Given the description of an element on the screen output the (x, y) to click on. 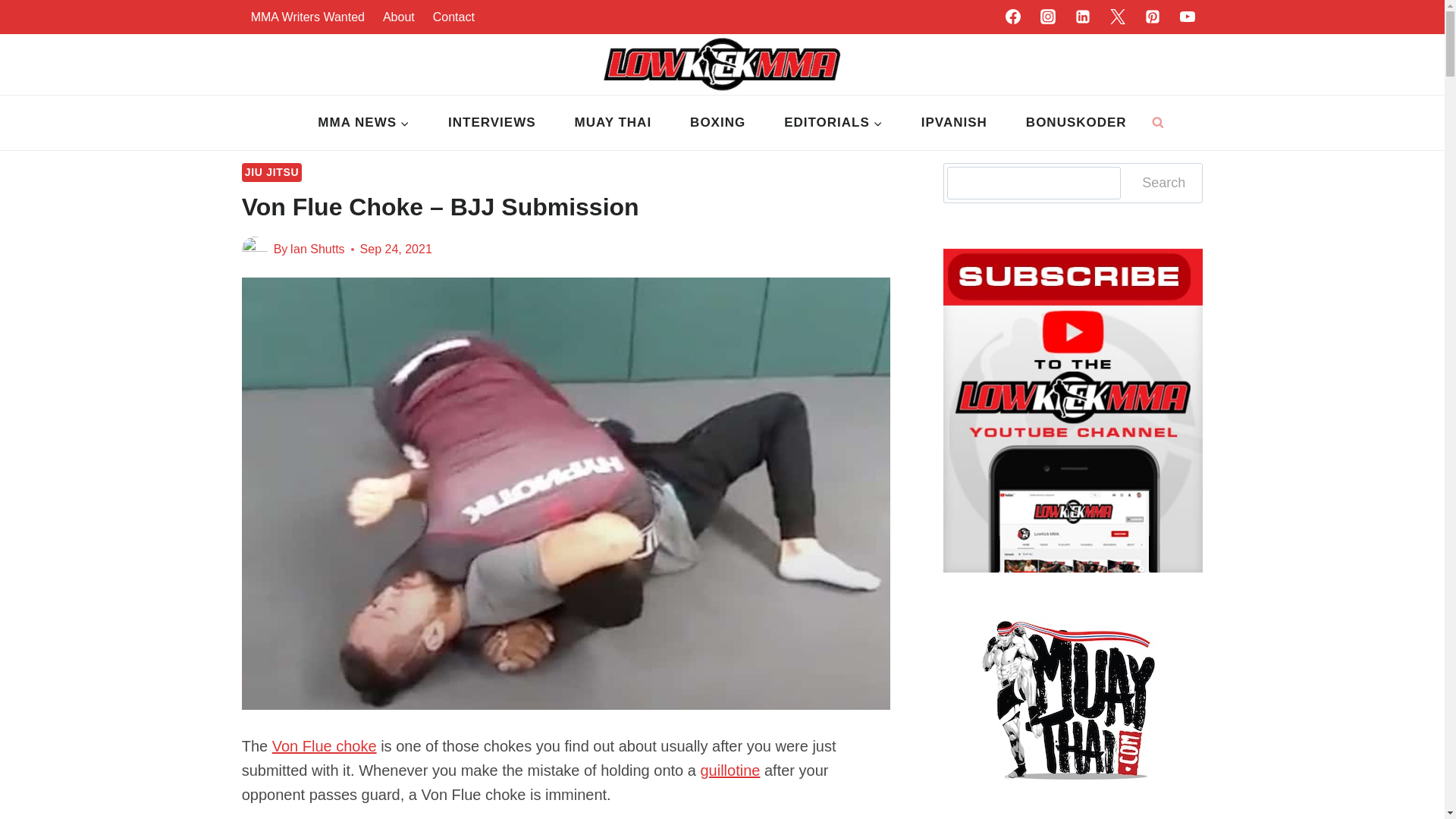
guillotine (730, 770)
BONUSKODER (1075, 122)
IPVANISH (953, 122)
INTERVIEWS (491, 122)
About (398, 17)
MUAY THAI (612, 122)
BOXING (718, 122)
MMA Writers Wanted (307, 17)
EDITORIALS (833, 122)
MMA NEWS (363, 122)
Contact (453, 17)
Von Flue choke (324, 745)
